Given the description of an element on the screen output the (x, y) to click on. 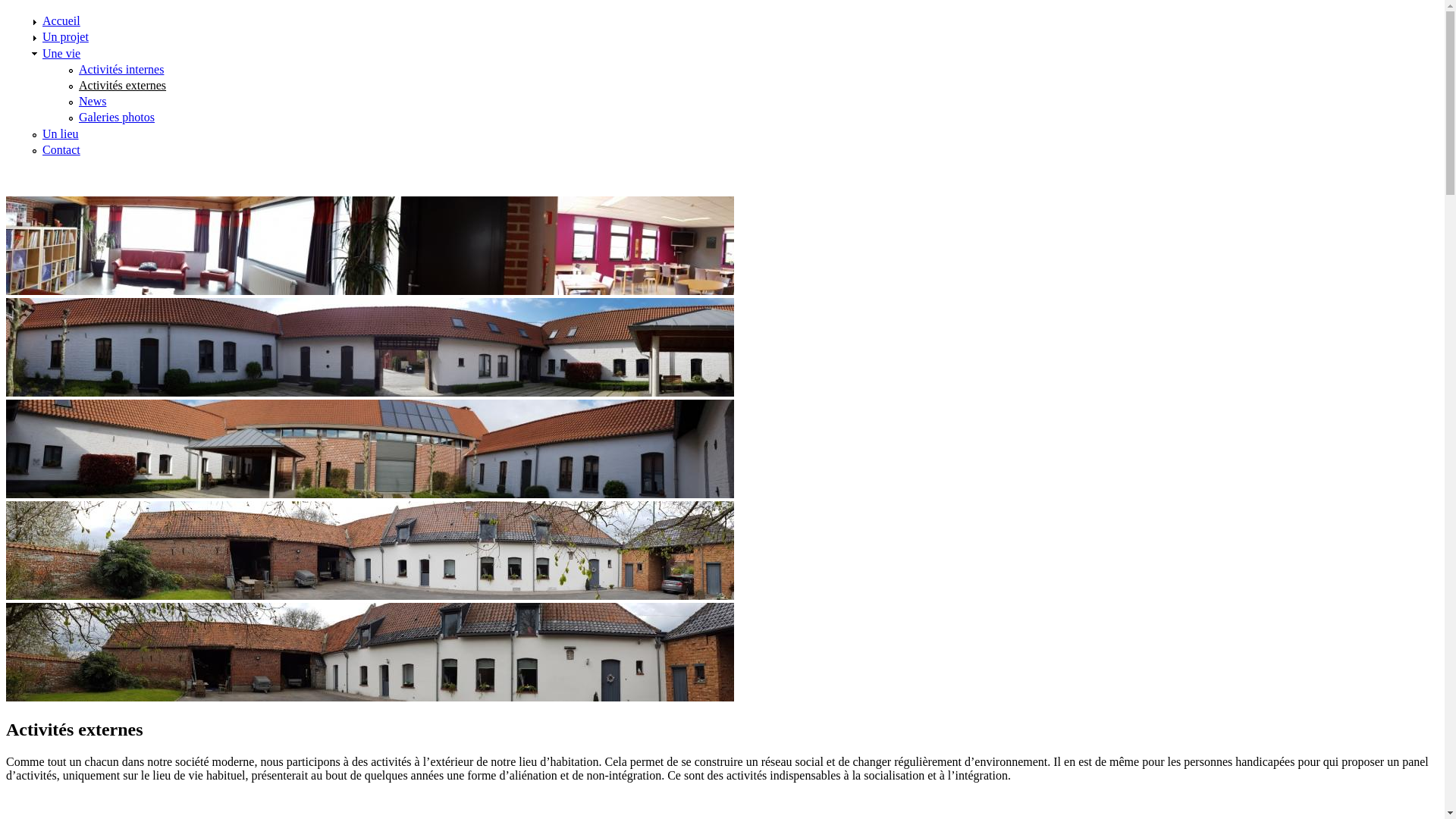
Galeries photos Element type: text (116, 116)
News Element type: text (92, 100)
Accueil Element type: text (61, 20)
Un projet Element type: text (65, 36)
Une vie Element type: text (61, 53)
Un lieu Element type: text (60, 133)
Contact Element type: text (61, 149)
